Given the description of an element on the screen output the (x, y) to click on. 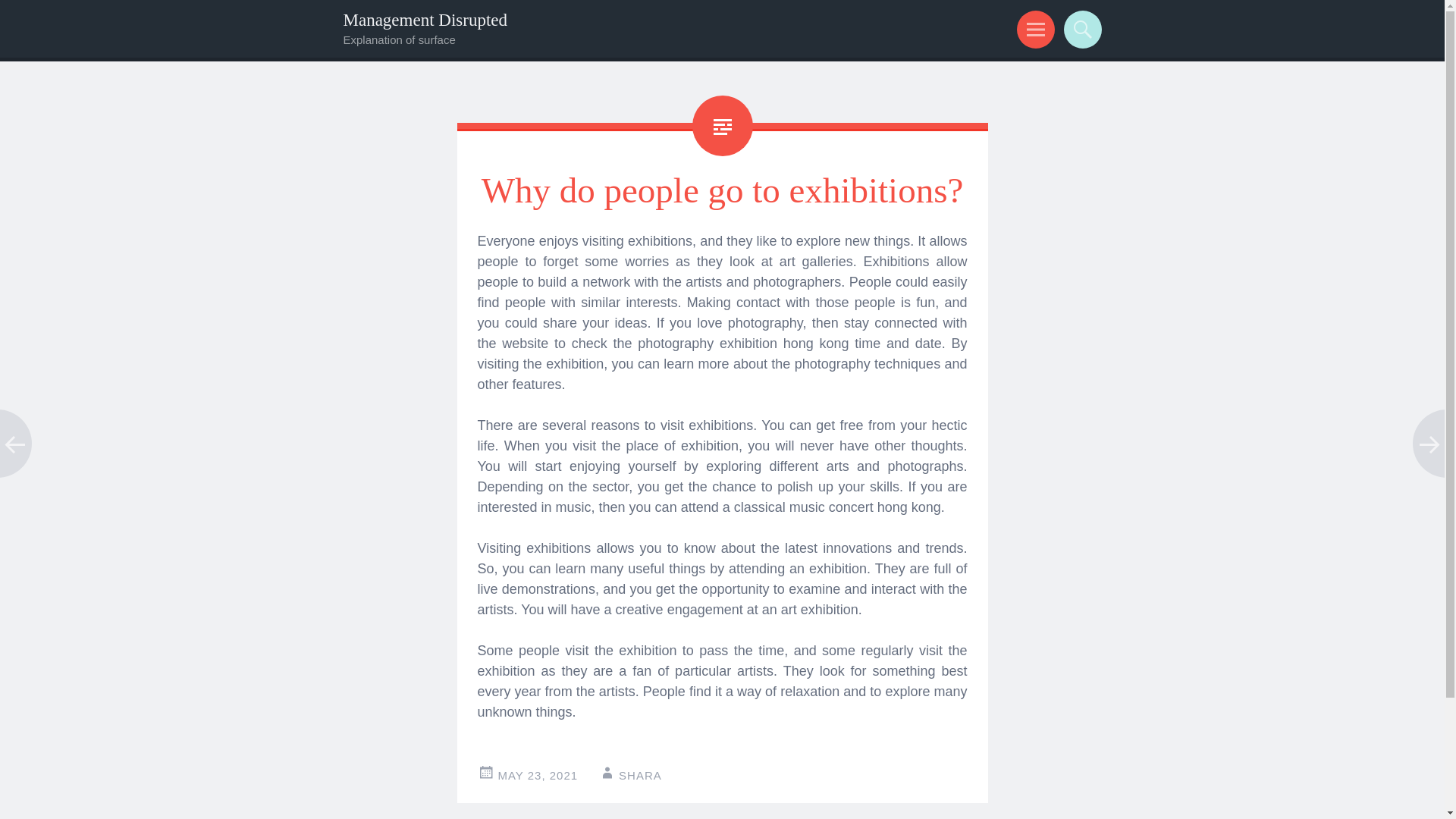
SHARA (640, 775)
Management Disrupted (424, 19)
Search (1080, 29)
Menu (1032, 29)
View all posts by Shara (640, 775)
6:11 am (537, 775)
MAY 23, 2021 (537, 775)
